Given the description of an element on the screen output the (x, y) to click on. 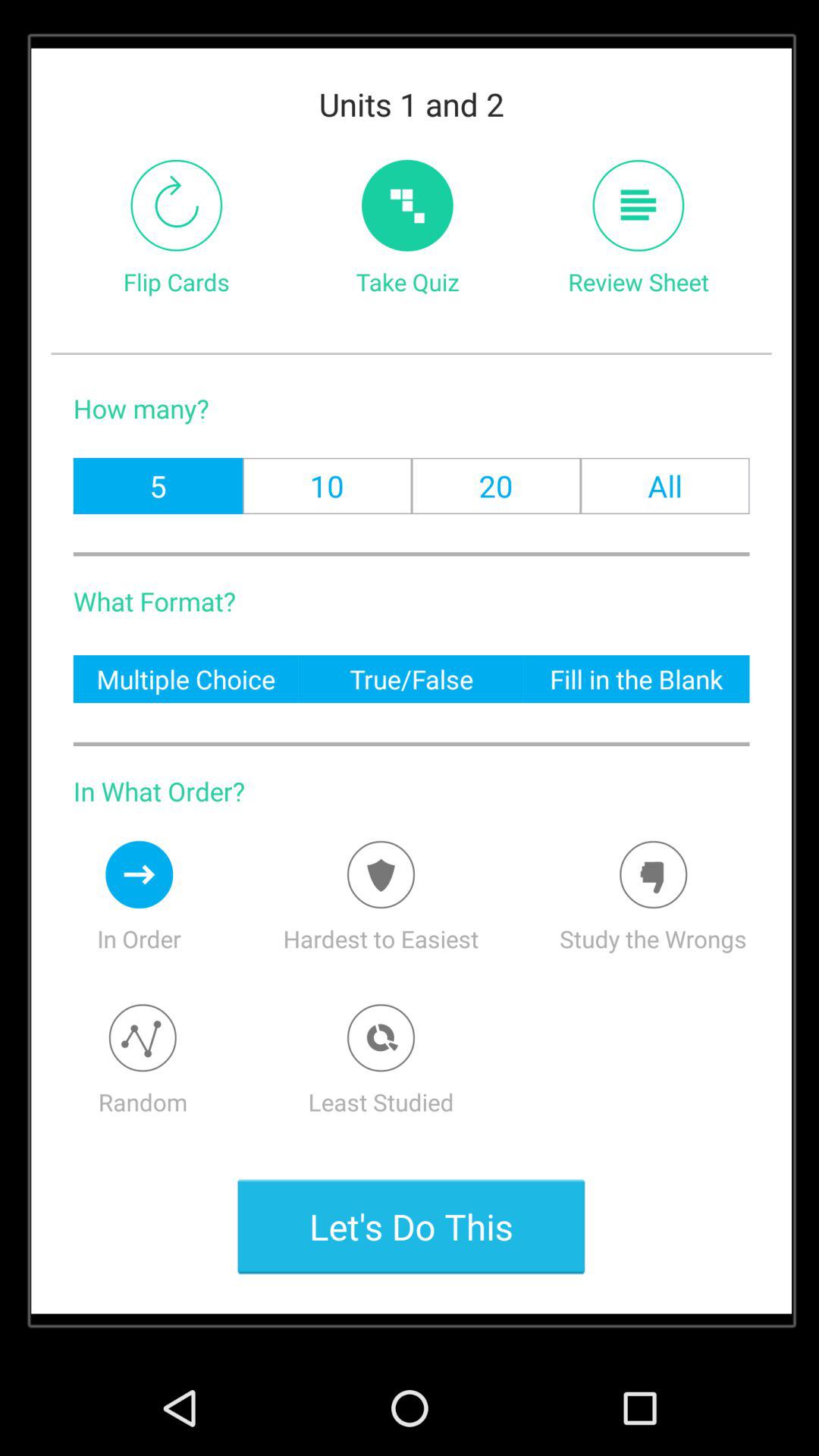
least studied option (380, 1037)
